Given the description of an element on the screen output the (x, y) to click on. 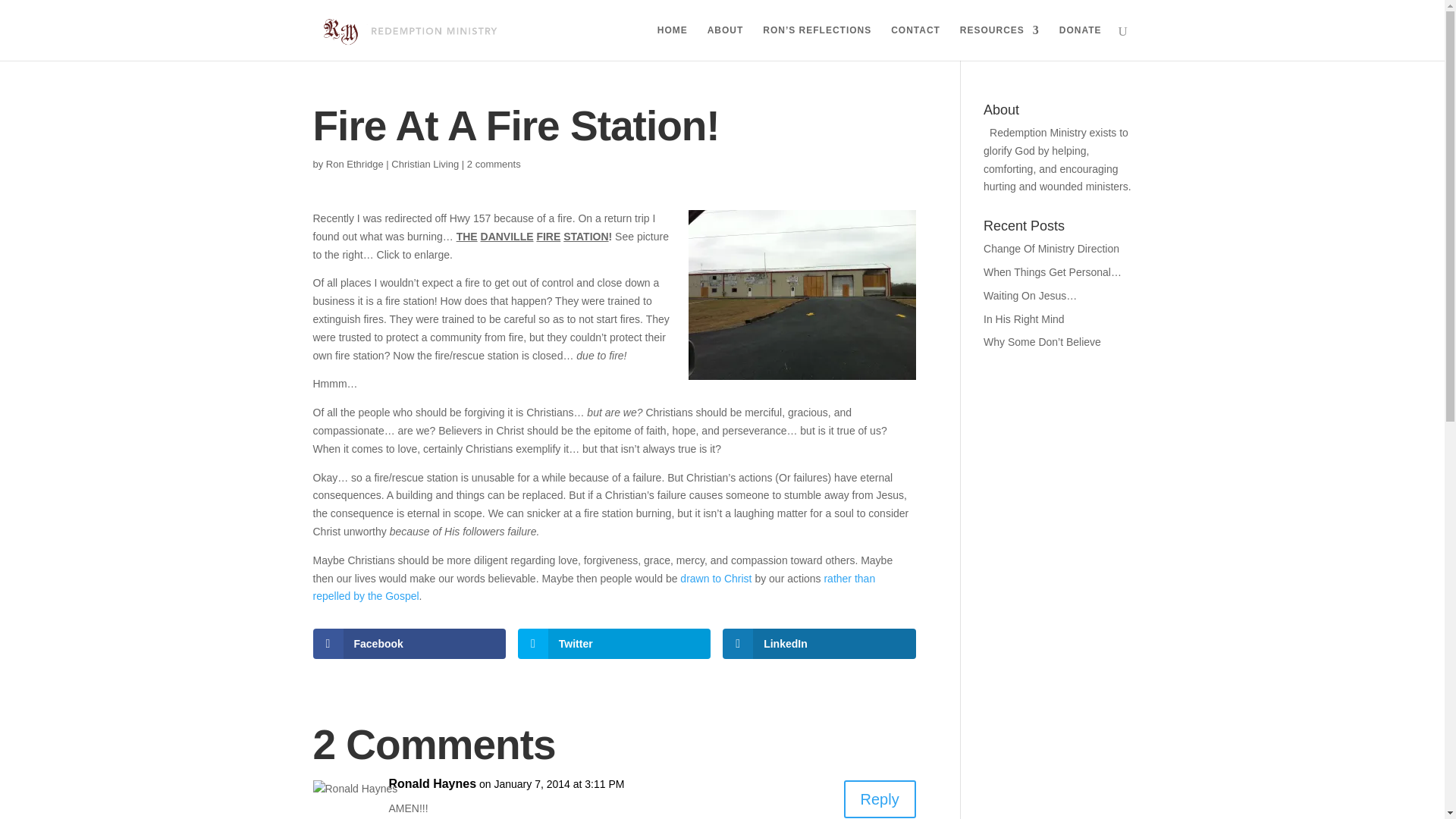
Facebook (409, 643)
Reply (879, 799)
LinkedIn (818, 643)
Twitter (614, 643)
rather than repelled by the Gospel (594, 587)
RESOURCES (999, 42)
2 comments (494, 163)
Christian Living (424, 163)
ABOUT (725, 42)
CONTACT (915, 42)
HOME (672, 42)
DONATE (1080, 42)
Change Of Ministry Direction (1051, 248)
Posts by Ron Ethridge (355, 163)
In His Right Mind (1024, 318)
